Given the description of an element on the screen output the (x, y) to click on. 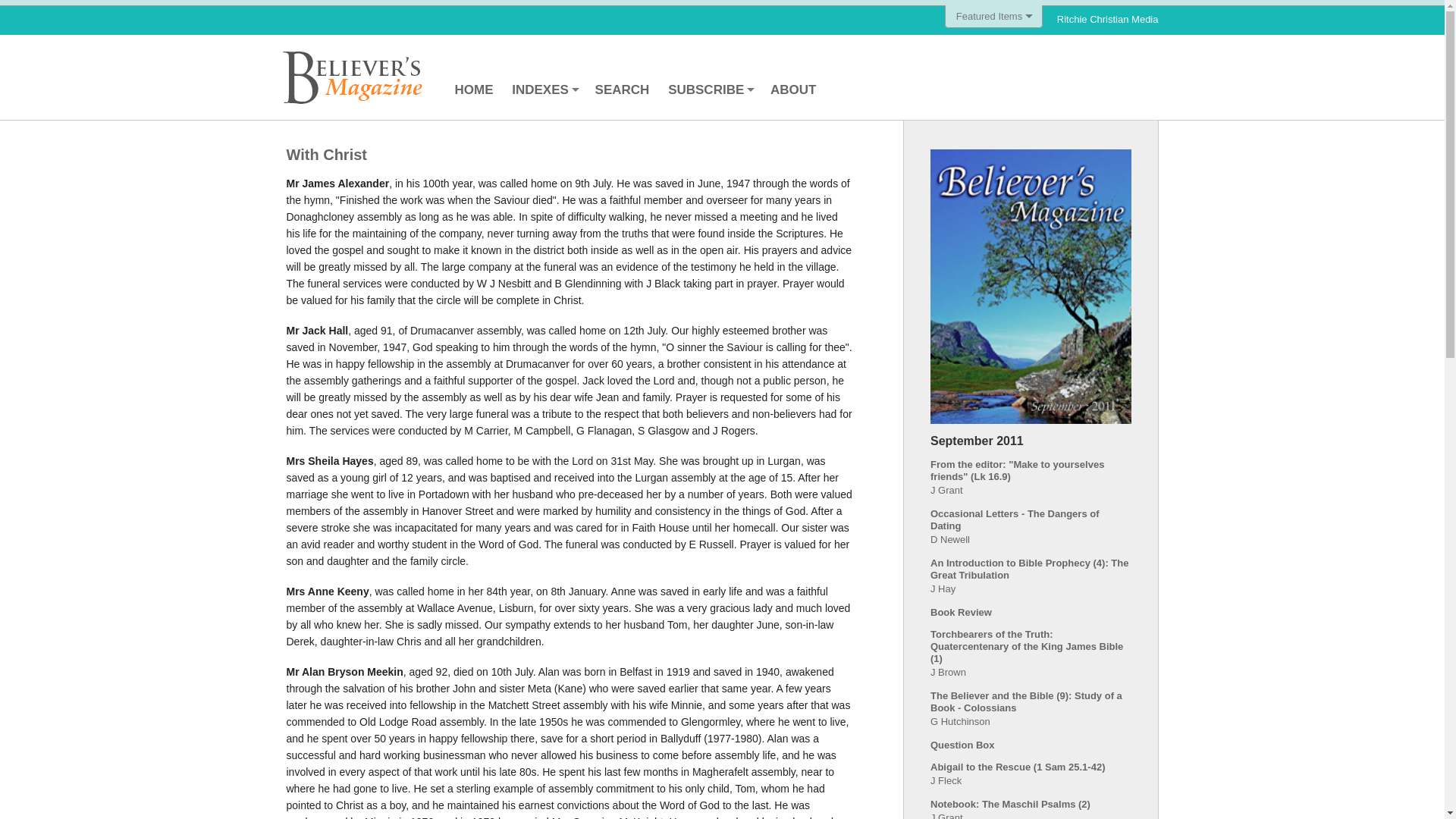
Question Box (962, 745)
HOME (473, 89)
ABOUT (793, 89)
Ritchie Christian Media (1107, 19)
INDEXES (543, 89)
Book Review (960, 612)
Occasional Letters - The Dangers of Dating (1014, 519)
SUBSCRIBE (709, 89)
SEARCH (623, 89)
